Given the description of an element on the screen output the (x, y) to click on. 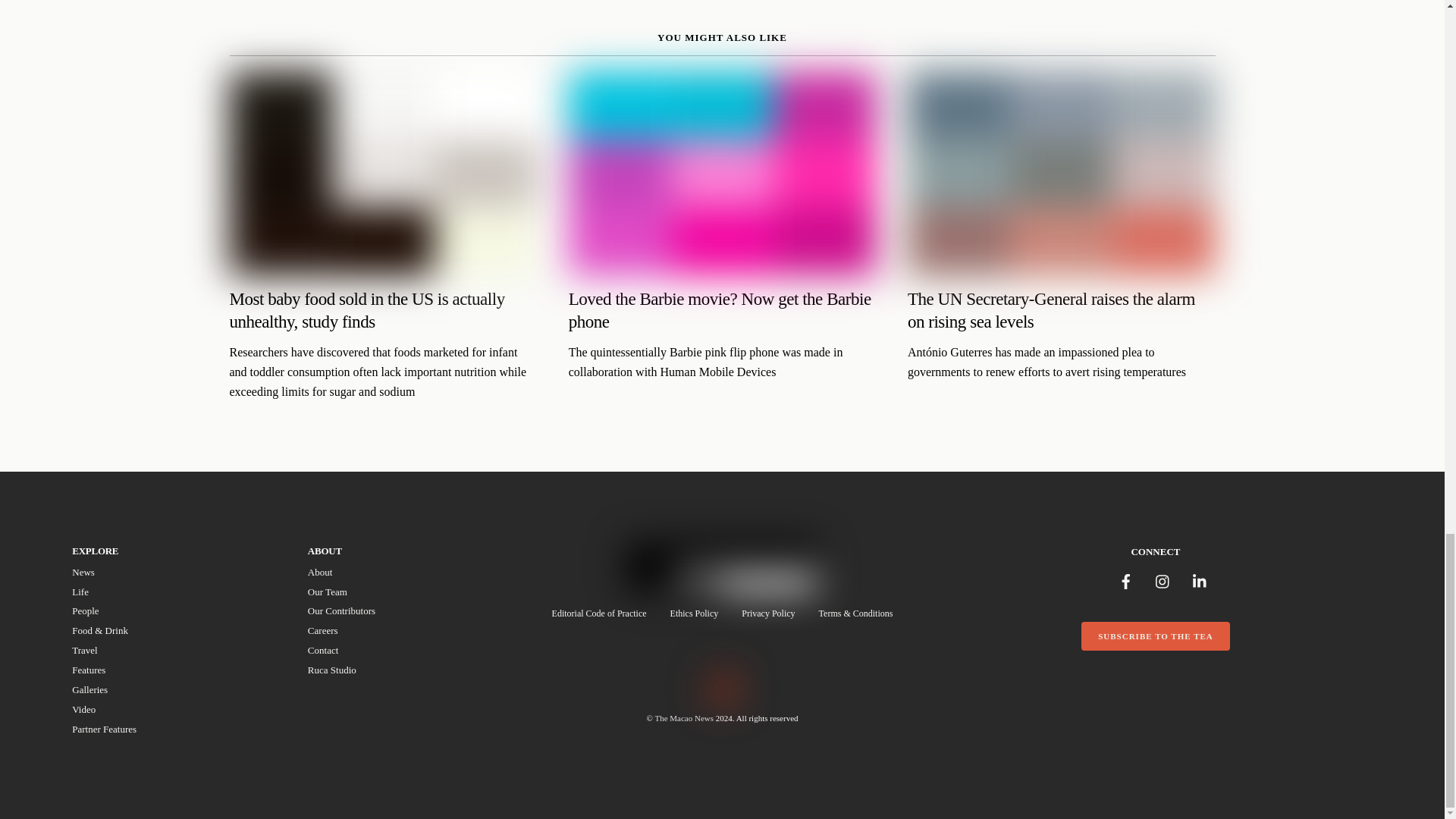
Loved the Barbie movie? Now get the Barbie phone (722, 173)
